Given the description of an element on the screen output the (x, y) to click on. 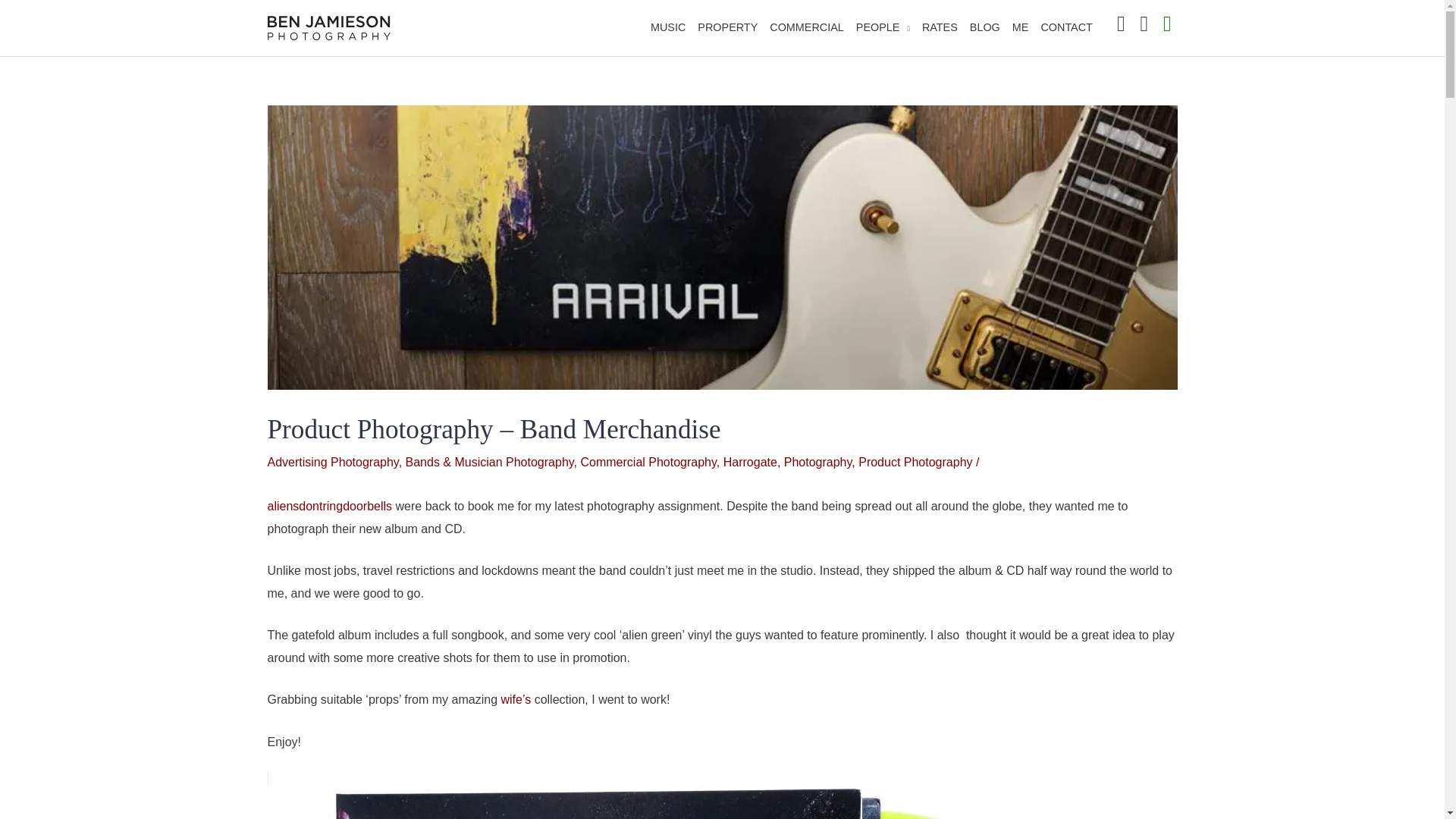
PEOPLE (882, 28)
Contact Ben Jamieson Photography (1065, 28)
CONTACT (1065, 28)
Photography (817, 461)
Product Photography (915, 461)
PROPERTY (726, 28)
COMMERCIAL (806, 28)
Harrogate (750, 461)
Advertising Photography (331, 461)
aliensdontringdoorbells (328, 505)
